Given the description of an element on the screen output the (x, y) to click on. 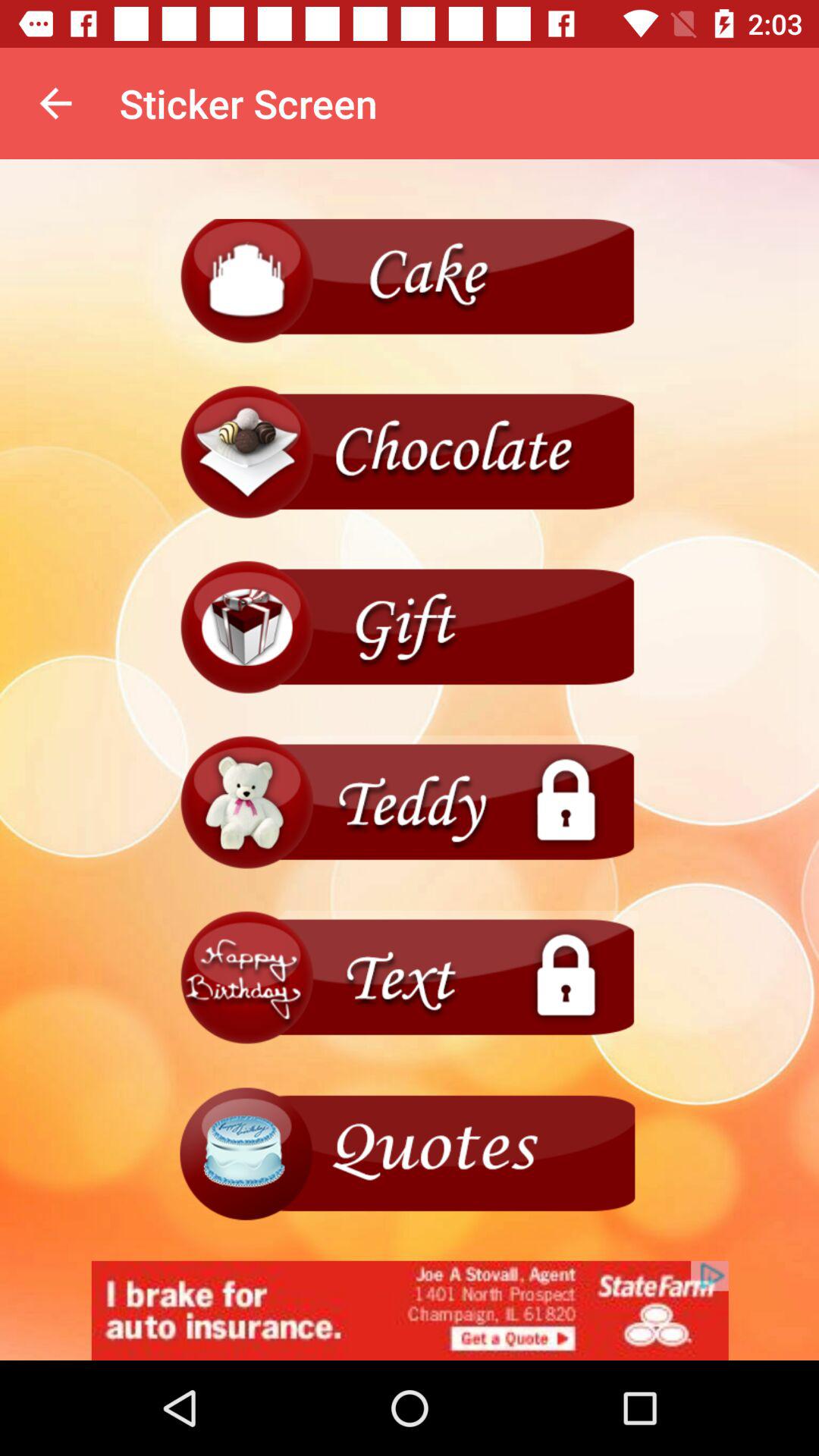
advertisement page (409, 1310)
